Given the description of an element on the screen output the (x, y) to click on. 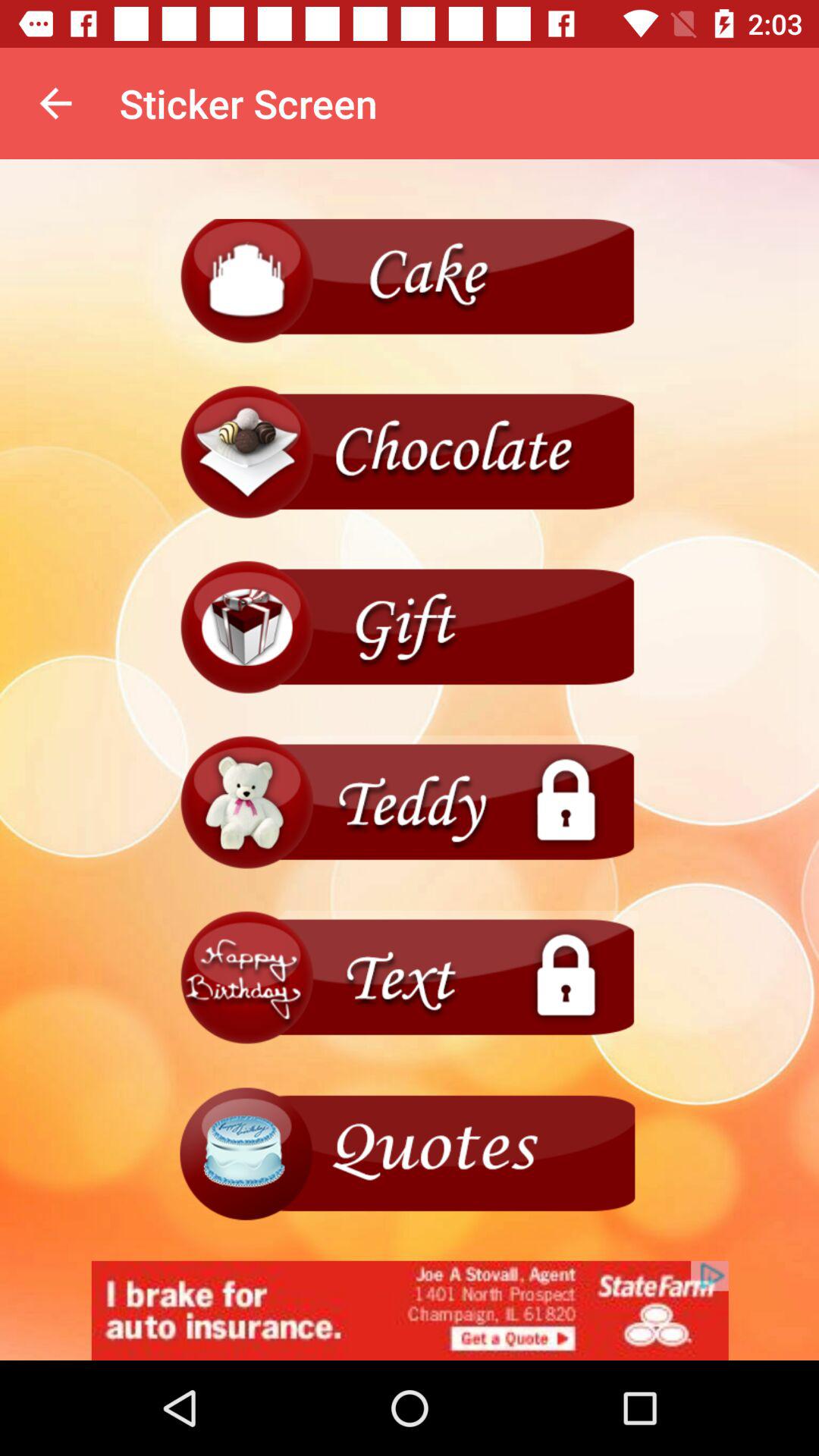
advertisement page (409, 1310)
